Given the description of an element on the screen output the (x, y) to click on. 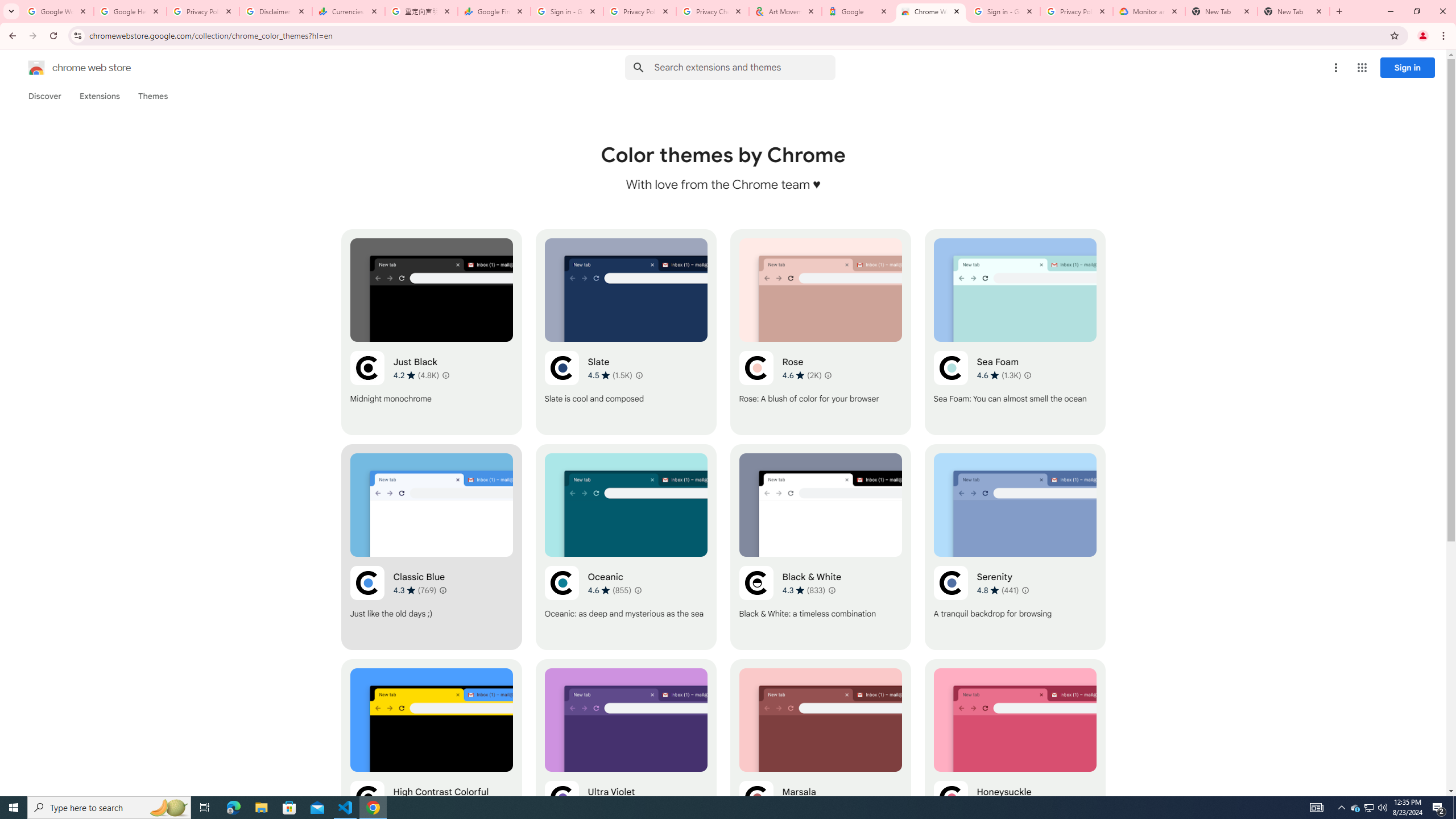
Google apps (1362, 67)
Discover (43, 95)
Learn more about results and reviews "Classic Blue" (442, 590)
Average rating 4.5 out of 5 stars. 1.5K ratings. (610, 375)
Learn more about results and reviews "Sea Foam" (1027, 375)
Currencies - Google Finance (348, 11)
Average rating 4.6 out of 5 stars. 2K ratings. (801, 375)
Privacy Checkup (712, 11)
